Given the description of an element on the screen output the (x, y) to click on. 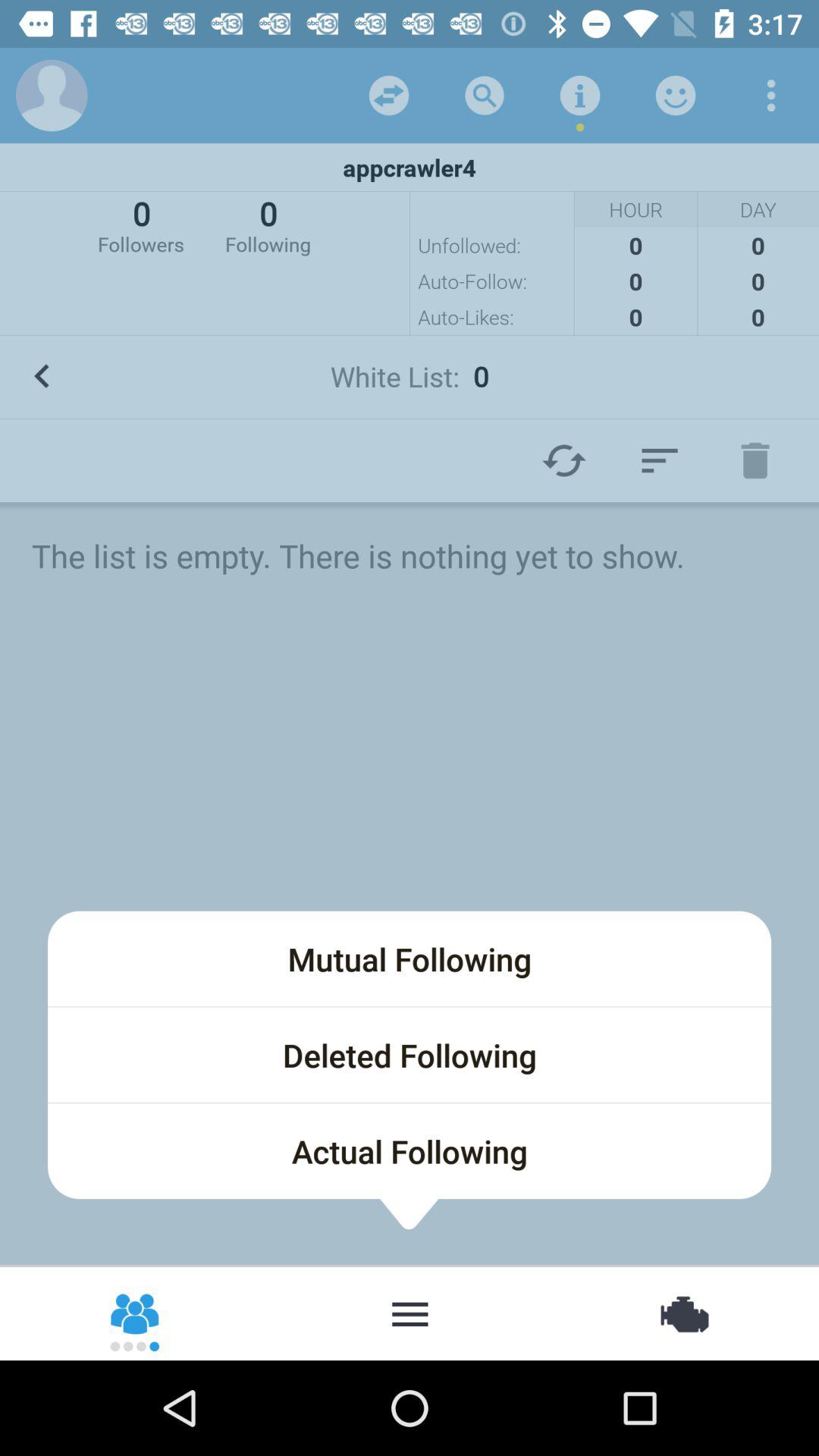
information (579, 95)
